Given the description of an element on the screen output the (x, y) to click on. 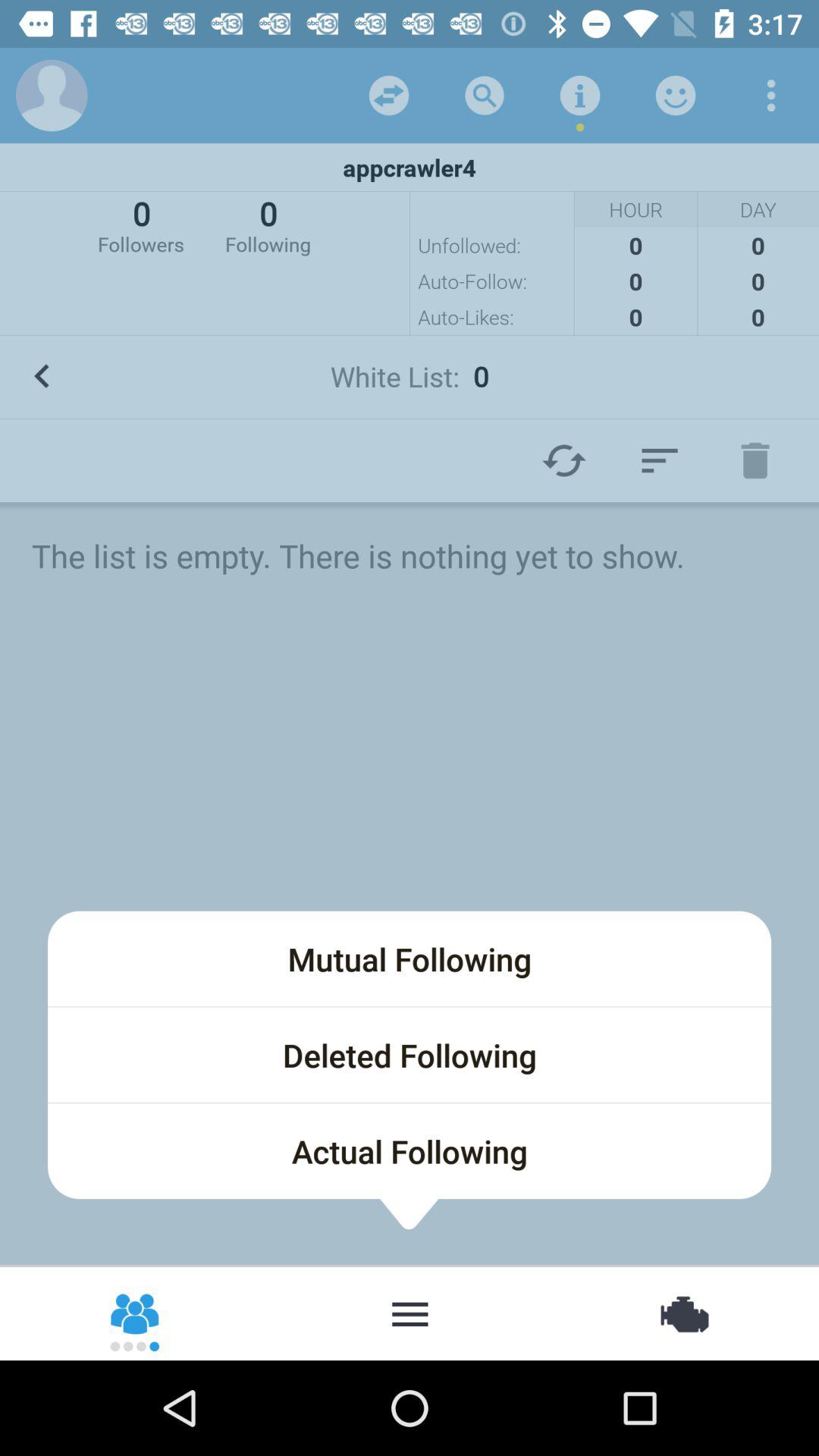
information (579, 95)
